Given the description of an element on the screen output the (x, y) to click on. 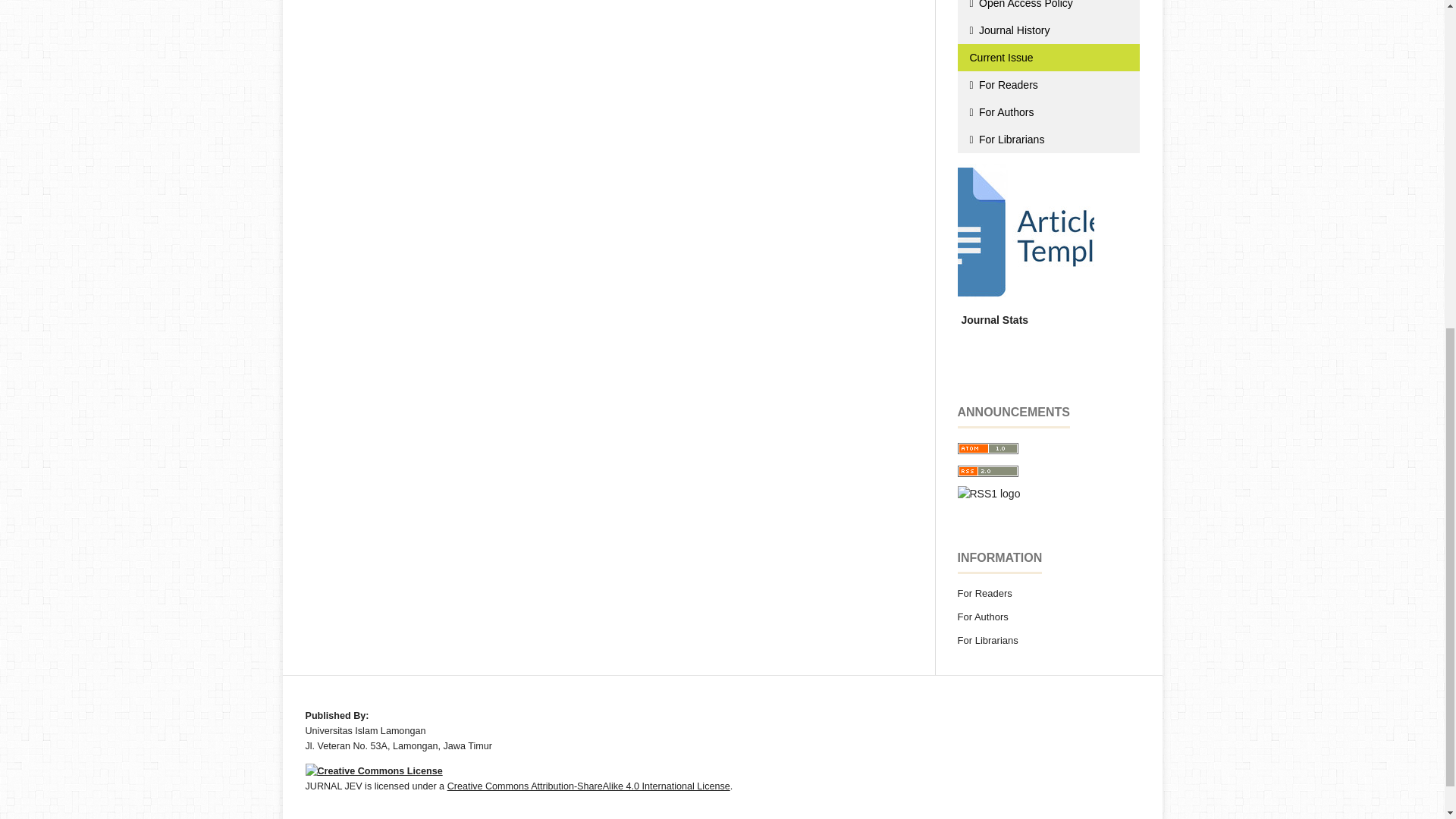
For Librarians (1047, 132)
Open Access Policy  (1047, 4)
Current Issue (1047, 50)
  For Librarians (1047, 132)
  For Readers (1047, 77)
  For Authors (1047, 104)
Web Analytics Made Easy - StatCounter (991, 313)
For Authors (1047, 104)
For Readers (1047, 77)
  Open Access Policy (1047, 4)
